Given the description of an element on the screen output the (x, y) to click on. 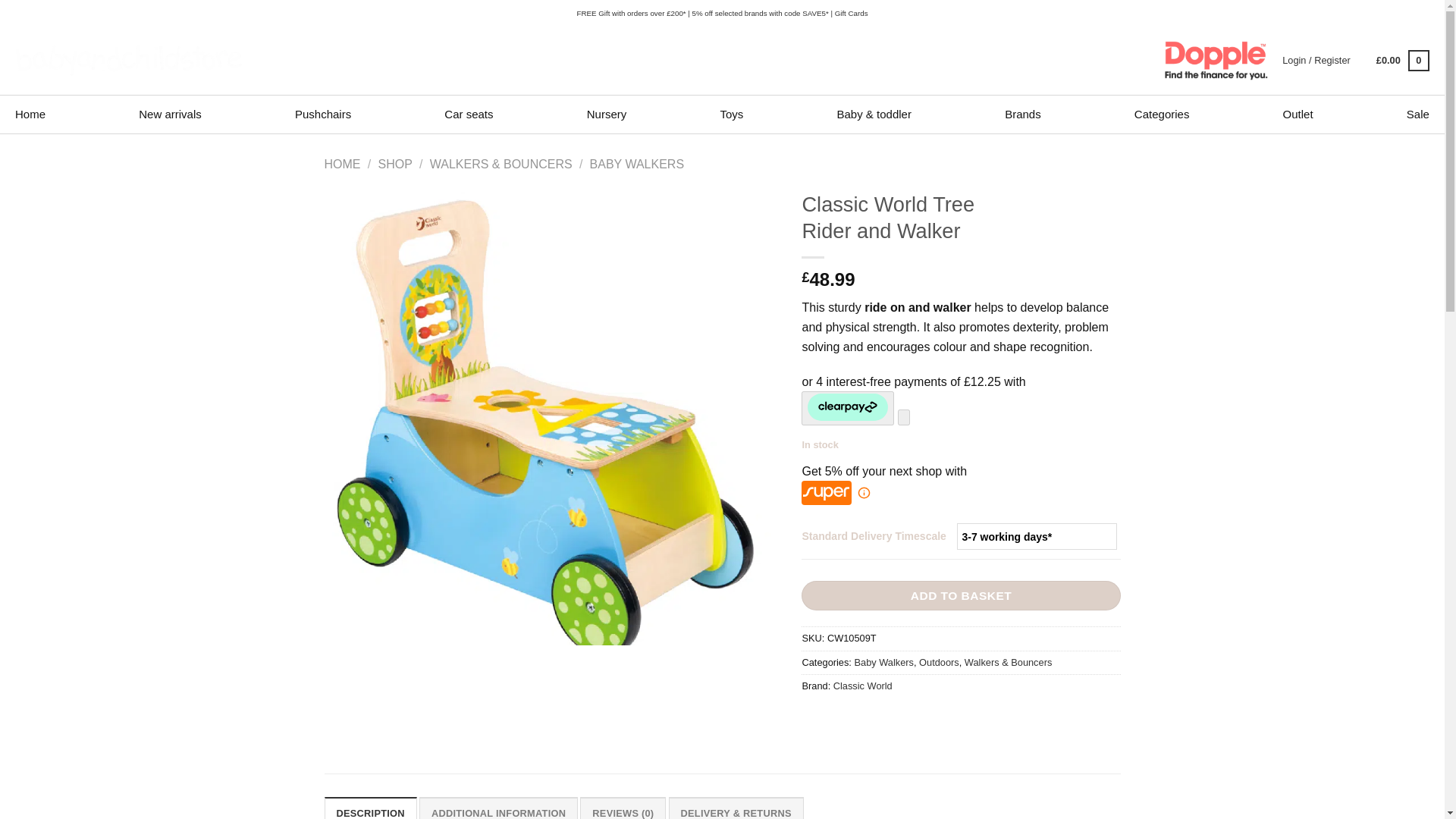
Share on LinkedIn (924, 720)
Login (1316, 60)
New arrivals (170, 114)
Basket (1402, 60)
Email to a Friend (869, 720)
Zoom (347, 685)
Share on Twitter (842, 720)
Pin on Pinterest (897, 720)
Search (959, 60)
Baby and Child Store (128, 60)
Share on Facebook (815, 720)
Pushchairs (322, 114)
